Given the description of an element on the screen output the (x, y) to click on. 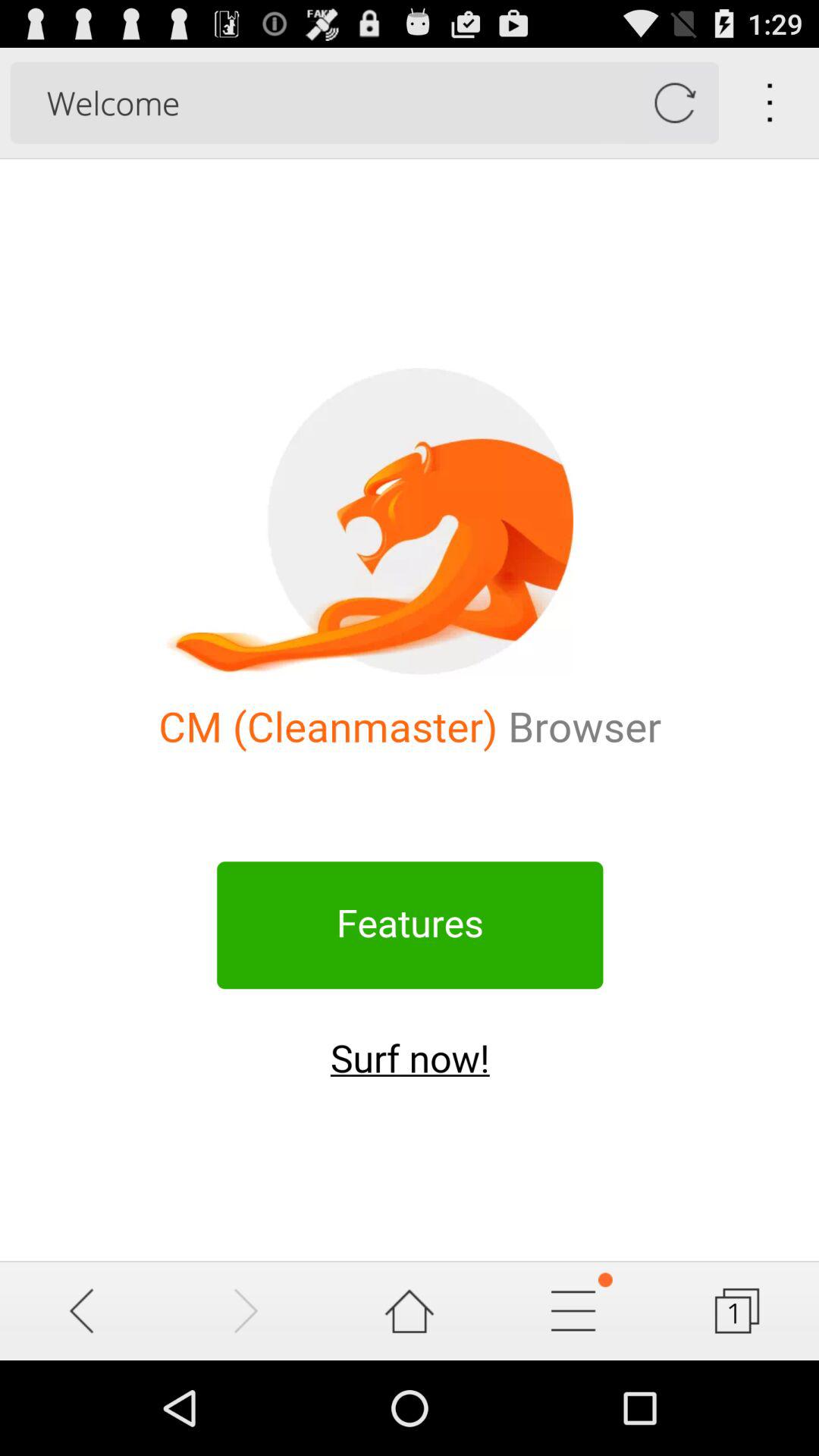
open menu (573, 1310)
